Given the description of an element on the screen output the (x, y) to click on. 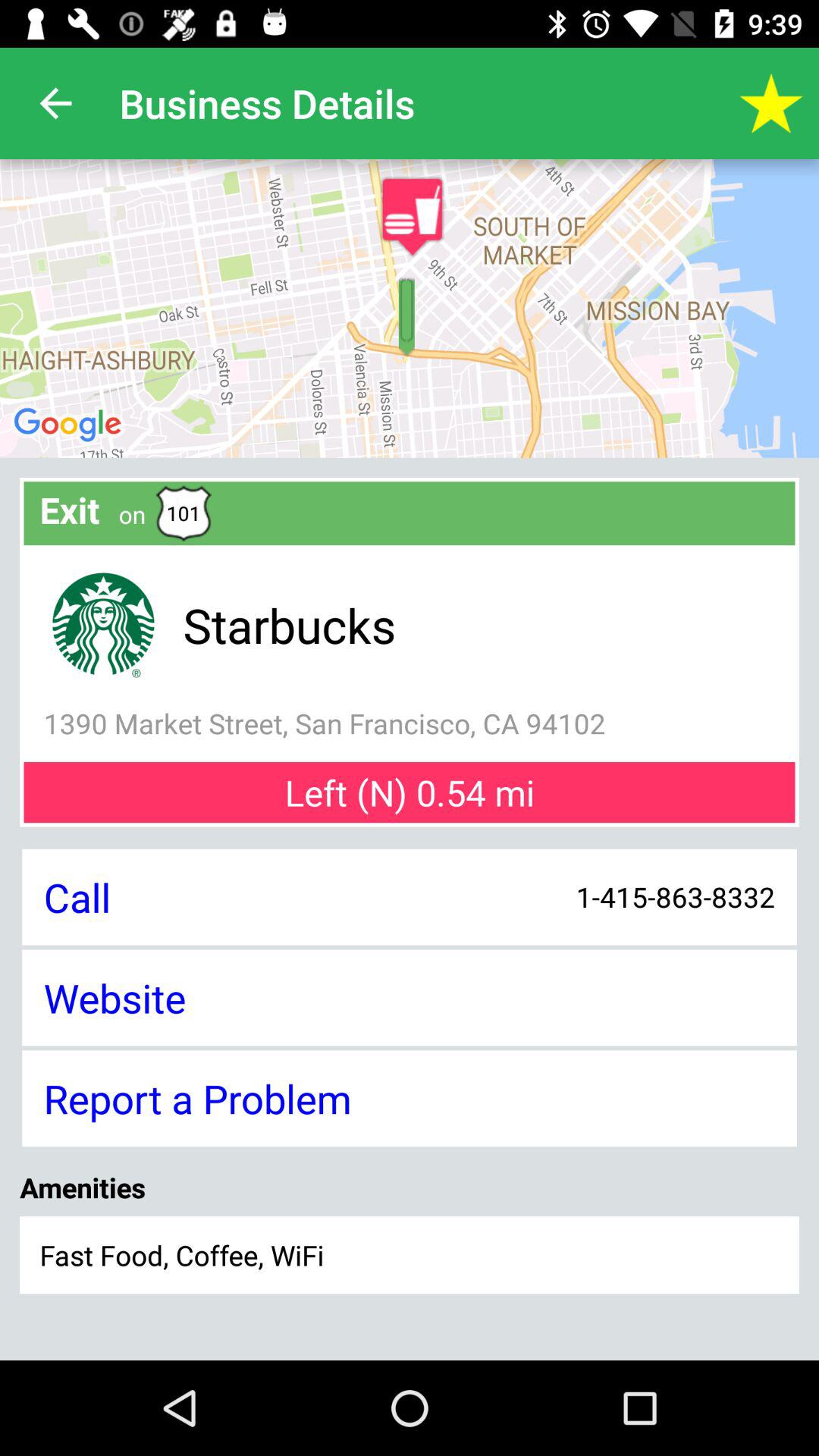
select the app next to business details (771, 103)
